Given the description of an element on the screen output the (x, y) to click on. 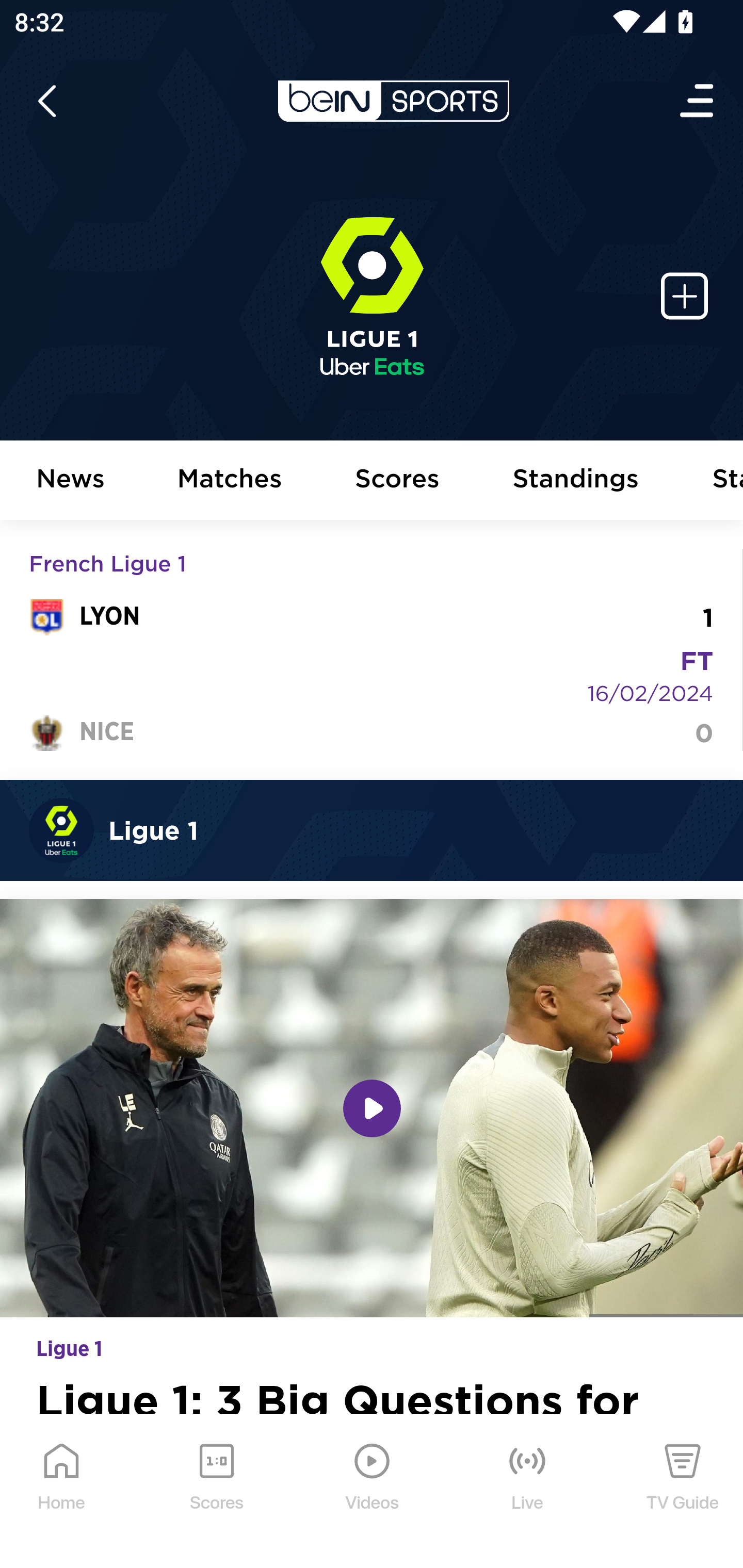
en-us?platform=mobile_android bein logo white (392, 101)
icon back (46, 101)
Open Menu Icon (697, 101)
News (70, 480)
Matches (229, 480)
Scores (397, 480)
Standings (575, 480)
Home Home Icon Home (61, 1491)
Scores Scores Icon Scores (216, 1491)
Videos Videos Icon Videos (372, 1491)
TV Guide TV Guide Icon TV Guide (682, 1491)
